Given the description of an element on the screen output the (x, y) to click on. 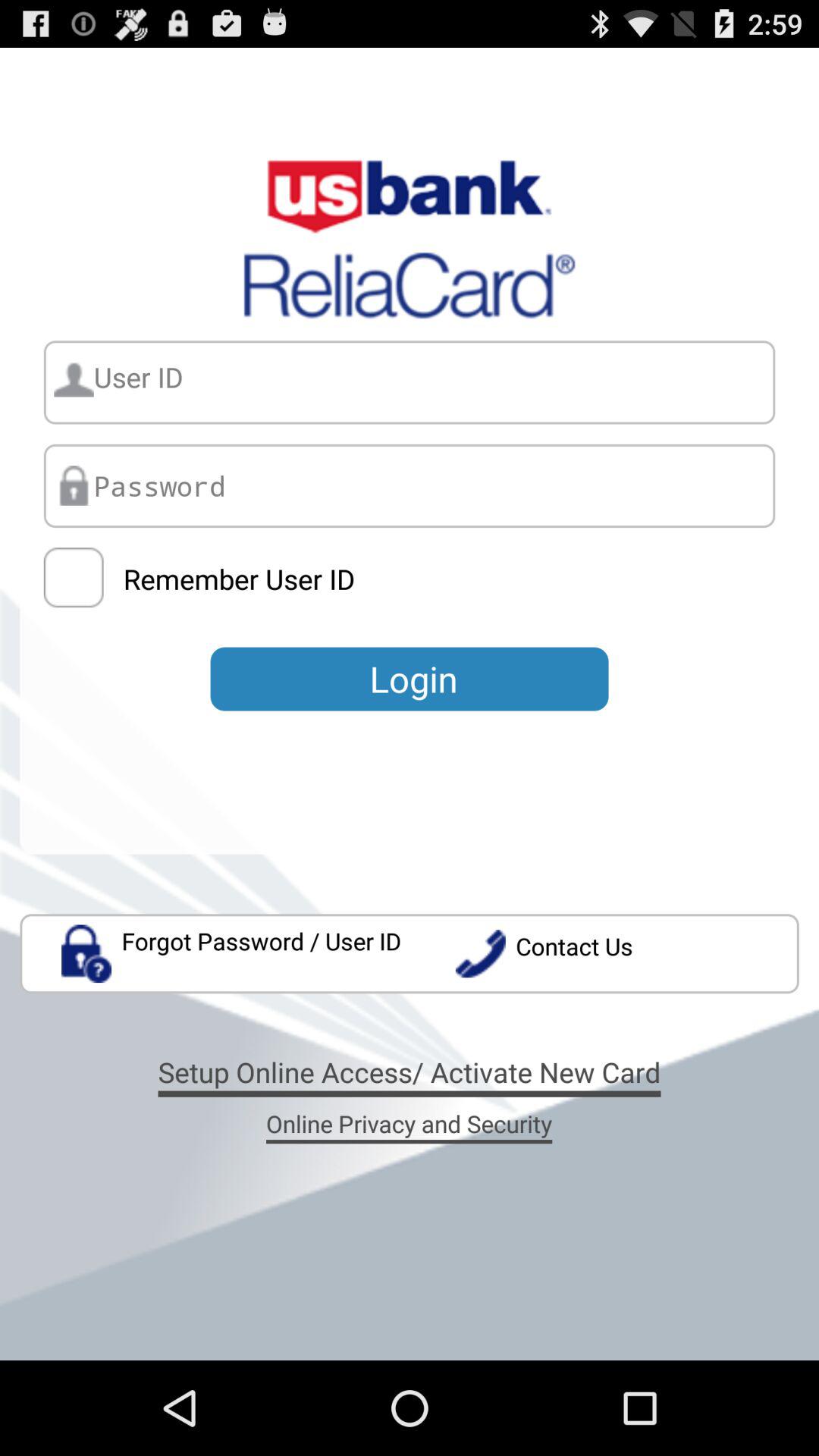
turn on the app above the setup online access icon (232, 953)
